Given the description of an element on the screen output the (x, y) to click on. 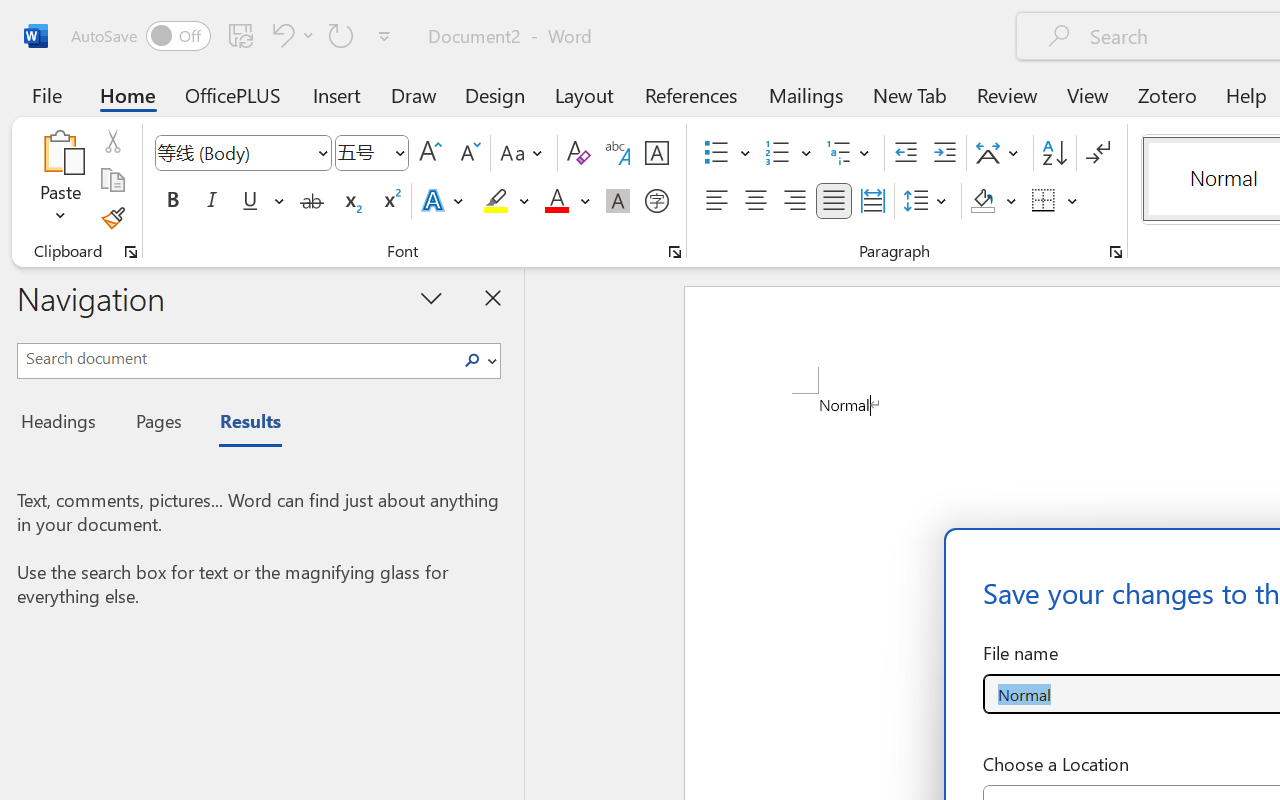
Character Border (656, 153)
Paste (60, 179)
Save (241, 35)
Draw (413, 94)
More Options (1073, 201)
Insert (337, 94)
Align Right (794, 201)
Italic (212, 201)
Strikethrough (312, 201)
Font (242, 153)
Results (240, 424)
Align Left (716, 201)
Sort... (1054, 153)
Bullets (727, 153)
Open (399, 152)
